Given the description of an element on the screen output the (x, y) to click on. 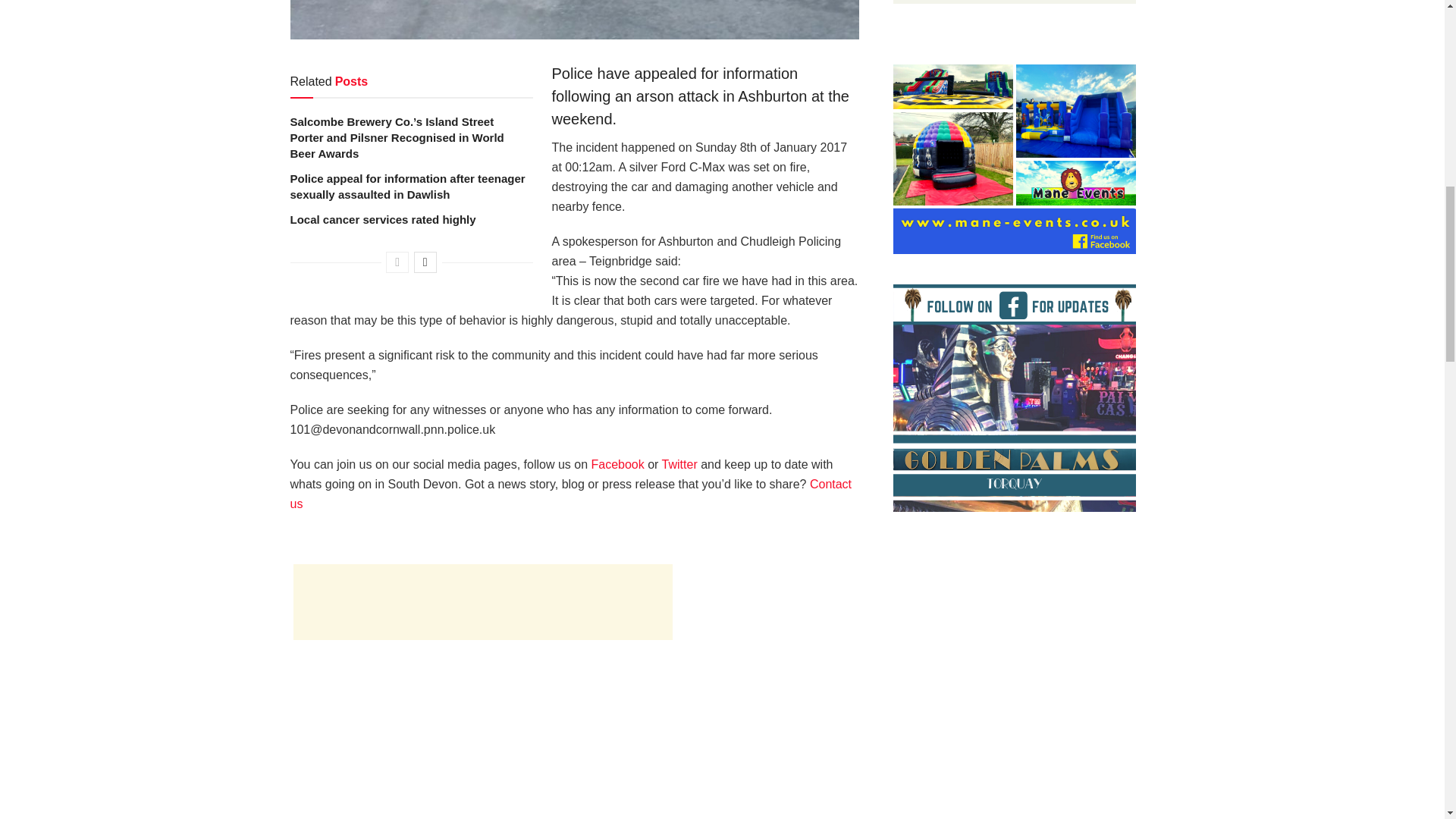
Local cancer services rated highly (382, 219)
Previous (397, 261)
Facebook (618, 463)
Next (424, 261)
